Given the description of an element on the screen output the (x, y) to click on. 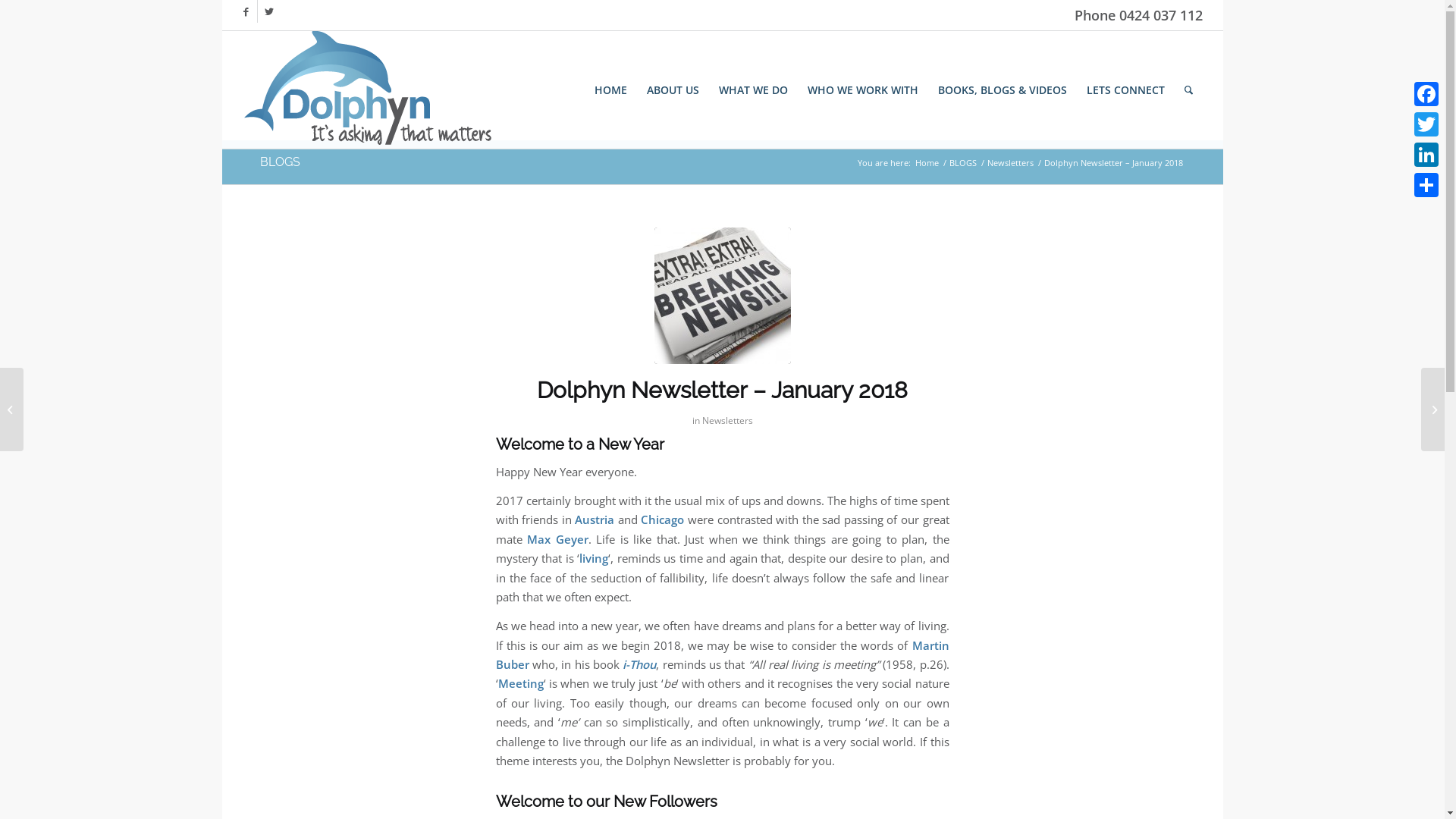
BLOGS Element type: text (962, 162)
Dolphyn - breaking news Element type: hover (721, 295)
Twitter Element type: hover (268, 11)
Max Geyer Element type: text (557, 538)
Share Element type: text (1426, 184)
Martin Buber Element type: text (722, 654)
WHO WE WORK WITH Element type: text (862, 89)
Home Element type: text (927, 162)
BLOGS Element type: text (279, 161)
BOOKS, BLOGS & VIDEOS Element type: text (1002, 89)
HOME Element type: text (610, 89)
i-Thou Element type: text (638, 663)
Chicago Element type: text (662, 519)
Newsletters Element type: text (1009, 162)
ABOUT US Element type: text (673, 89)
LETS CONNECT Element type: text (1125, 89)
Austria Element type: text (594, 519)
LinkedIn Element type: text (1426, 154)
Facebook Element type: hover (246, 11)
Facebook Element type: text (1426, 93)
Twitter Element type: text (1426, 124)
WHAT WE DO Element type: text (753, 89)
Newsletters Element type: text (727, 420)
